Given the description of an element on the screen output the (x, y) to click on. 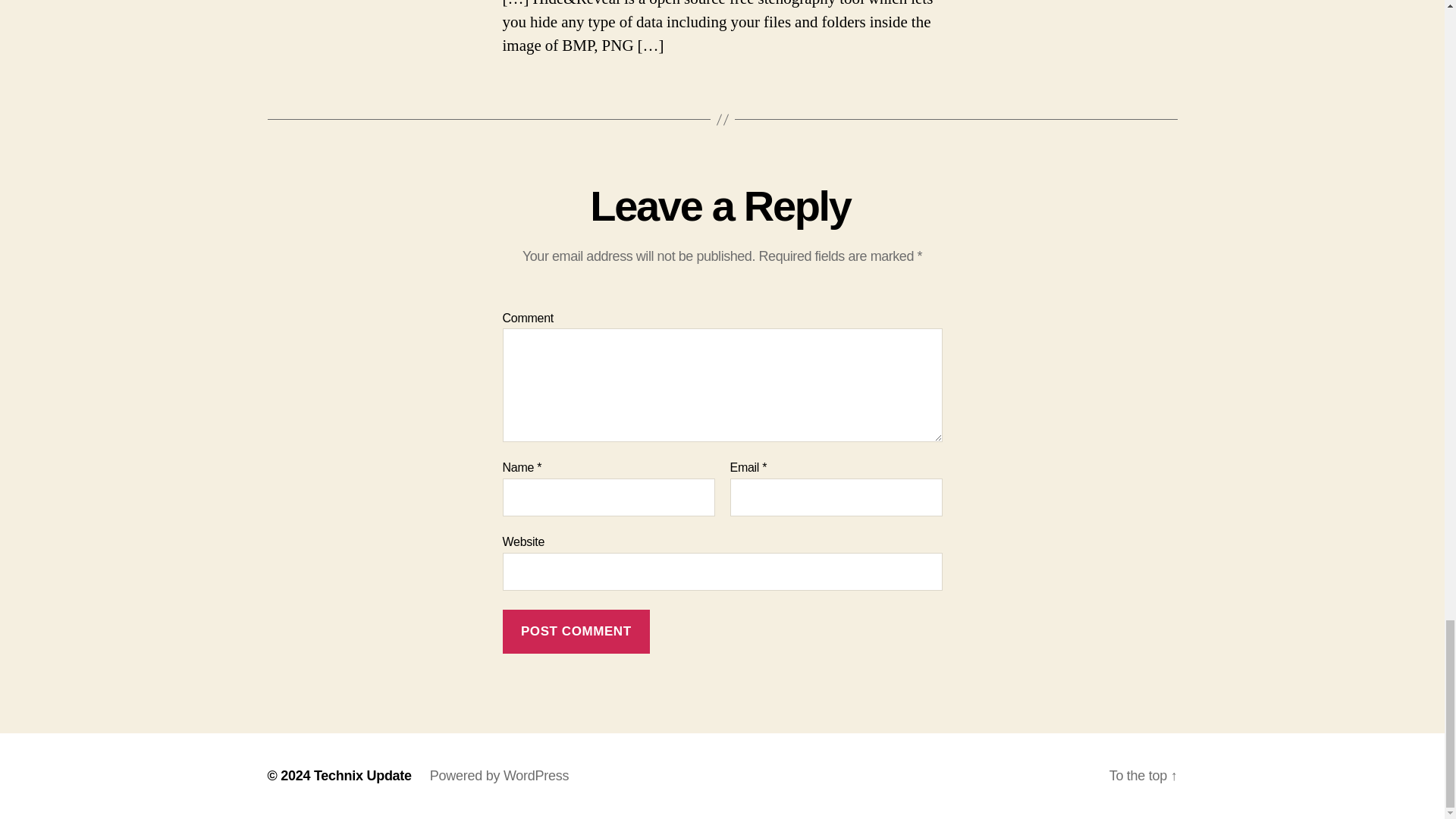
Post Comment (575, 631)
Powered by WordPress (499, 775)
Post Comment (575, 631)
Technix Update (363, 775)
